Given the description of an element on the screen output the (x, y) to click on. 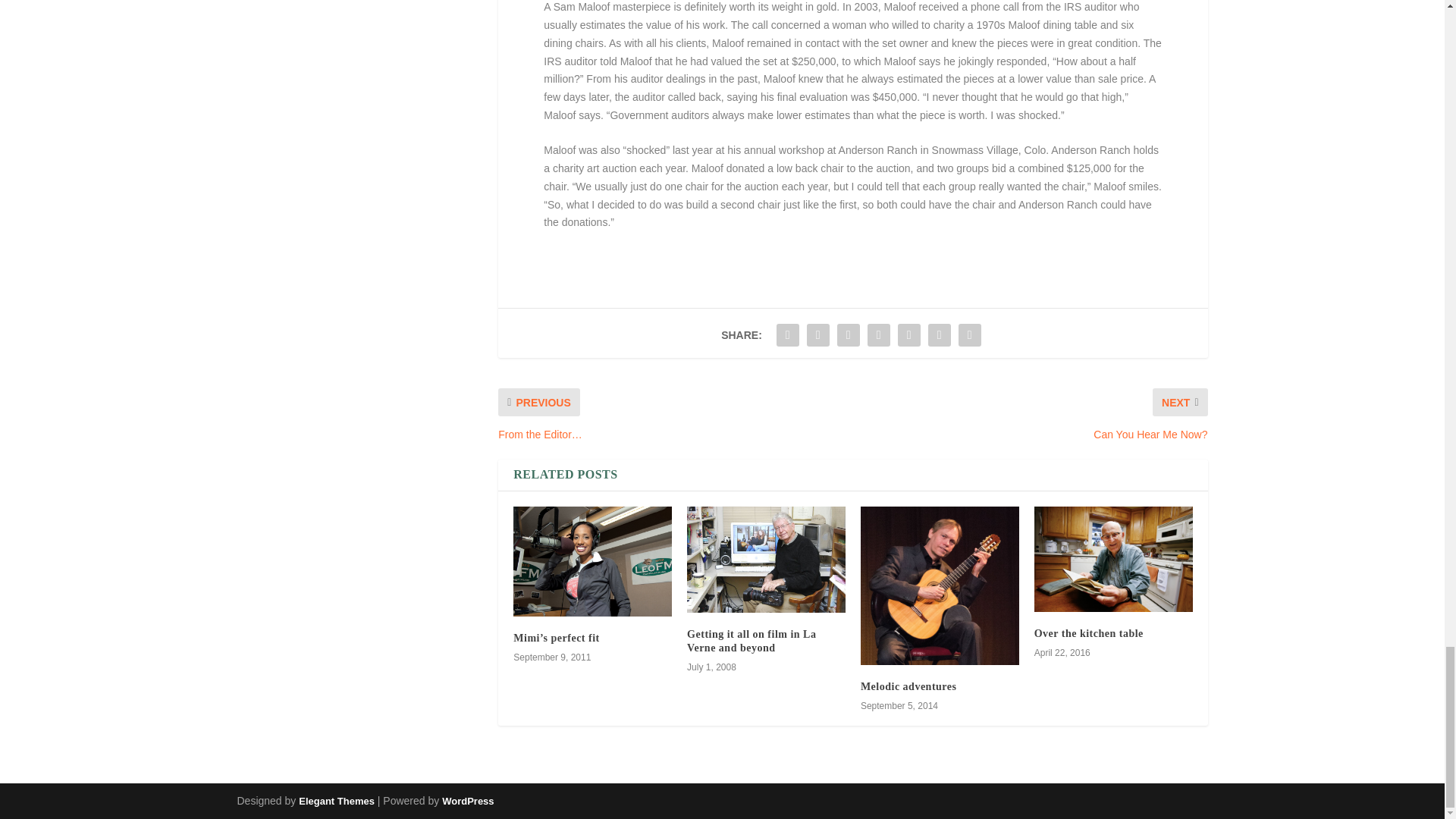
Getting it all on film in La Verne and beyond (751, 640)
Over the kitchen table (1087, 633)
Over the kitchen table (1112, 558)
Melodic adventures (939, 585)
Getting it all on film in La Verne and beyond (766, 559)
Melodic adventures (908, 686)
